Given the description of an element on the screen output the (x, y) to click on. 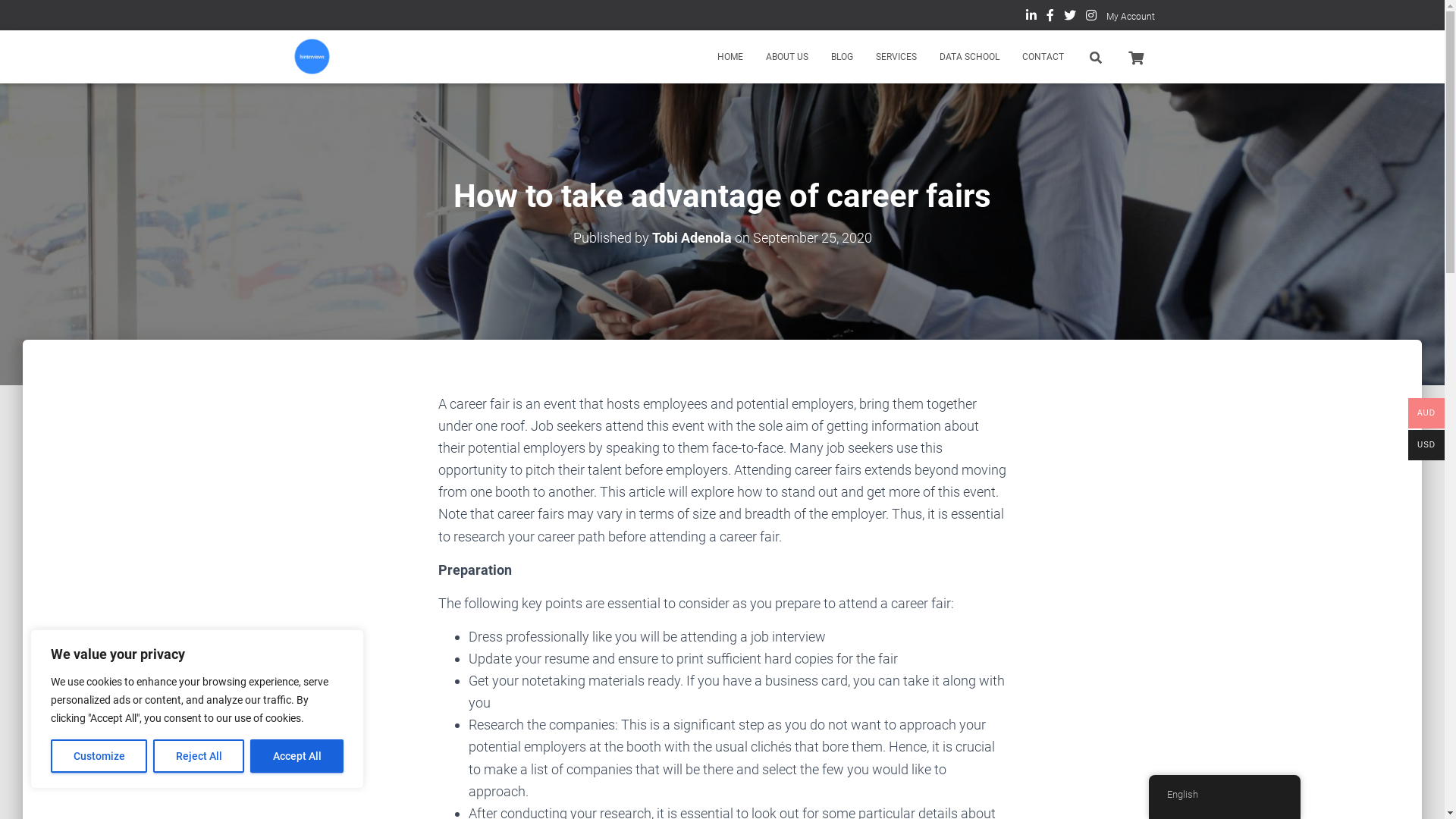
Accept All Element type: text (296, 755)
ABOUT US Element type: text (786, 56)
BLOG Element type: text (841, 56)
HOME Element type: text (729, 56)
LinkedIn Element type: text (1030, 17)
SERVICES Element type: text (896, 56)
Hinterviews Element type: hover (312, 56)
English Element type: text (1223, 794)
Reject All Element type: text (198, 755)
Customize Element type: text (98, 755)
DATA SCHOOL Element type: text (969, 56)
View cart Element type: hover (1135, 55)
Twitter Element type: text (1069, 17)
Search Element type: text (3, 16)
CONTACT Element type: text (1042, 56)
Instagram Element type: text (1090, 17)
Tobi Adenola Element type: text (691, 237)
My Account Element type: text (1129, 16)
Facebook Element type: text (1050, 17)
